Given the description of an element on the screen output the (x, y) to click on. 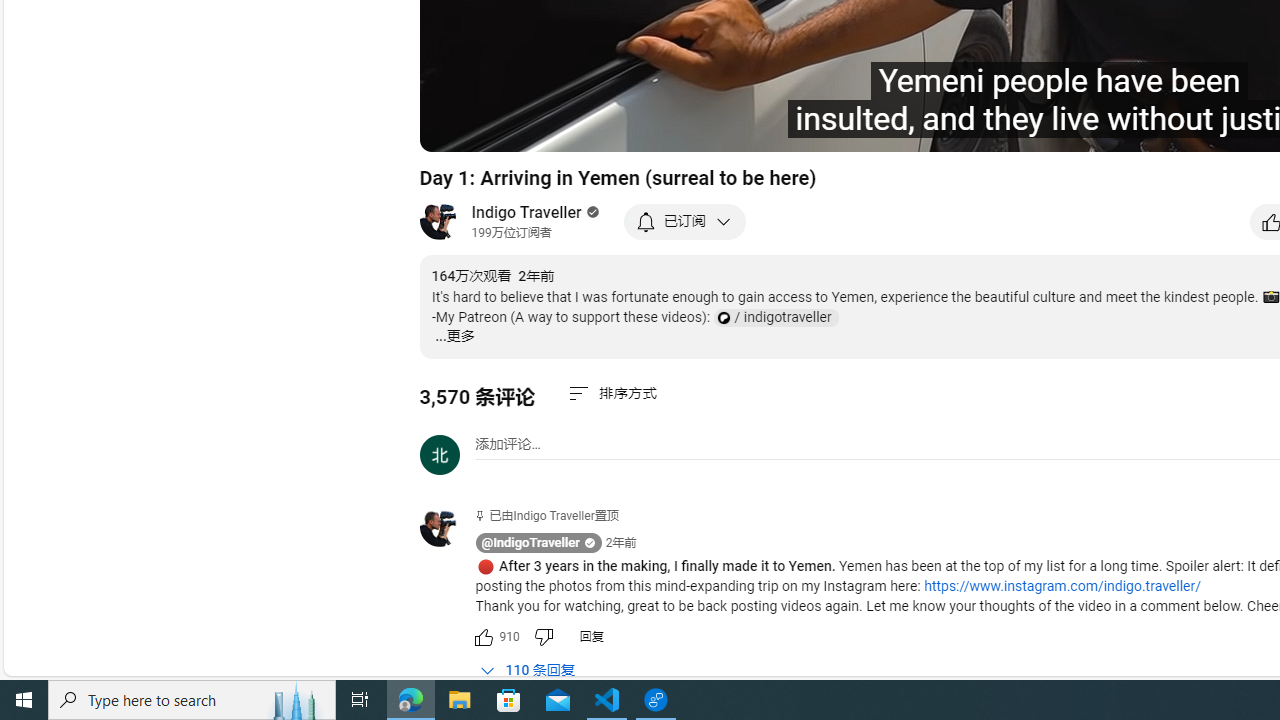
Patreon Channel Link: indigotraveller (775, 318)
@IndigoTraveller (447, 528)
AutomationID: simplebox-placeholder (507, 444)
@IndigoTraveller (530, 543)
https://www.instagram.com/indigo.traveller/ (1062, 586)
